Given the description of an element on the screen output the (x, y) to click on. 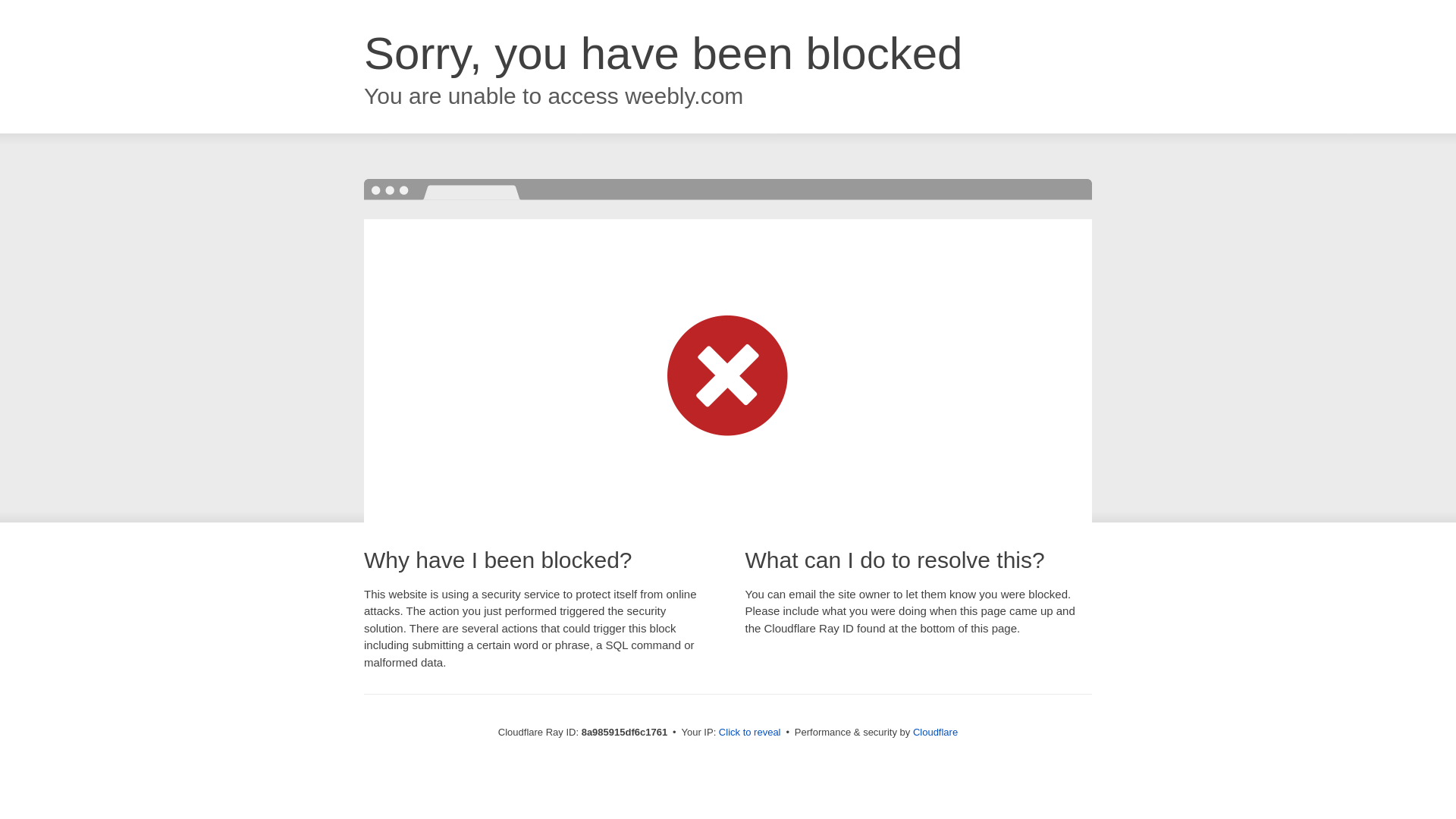
Cloudflare (935, 731)
Click to reveal (749, 732)
